Given the description of an element on the screen output the (x, y) to click on. 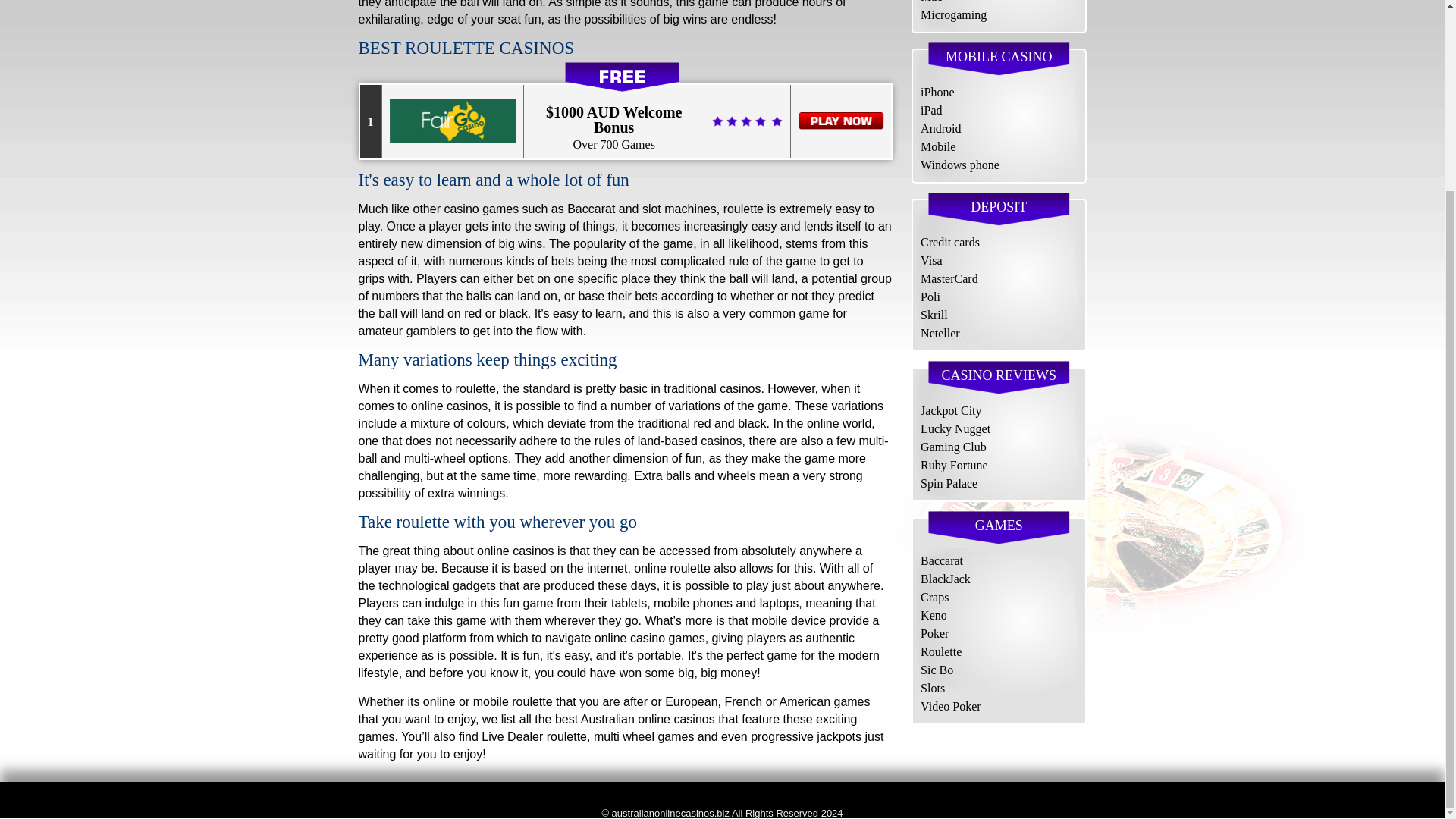
Gaming Club (953, 446)
Roulette (940, 651)
Skrill (933, 314)
Slots (932, 687)
Baccarat (941, 560)
Keno (933, 615)
Ruby Fortune (953, 464)
Poli (930, 296)
Android (940, 128)
online casinos (515, 550)
Neteller (939, 332)
online casinos (515, 550)
Credit cards (949, 241)
BlackJack (945, 578)
Spin Palace (948, 482)
